Given the description of an element on the screen output the (x, y) to click on. 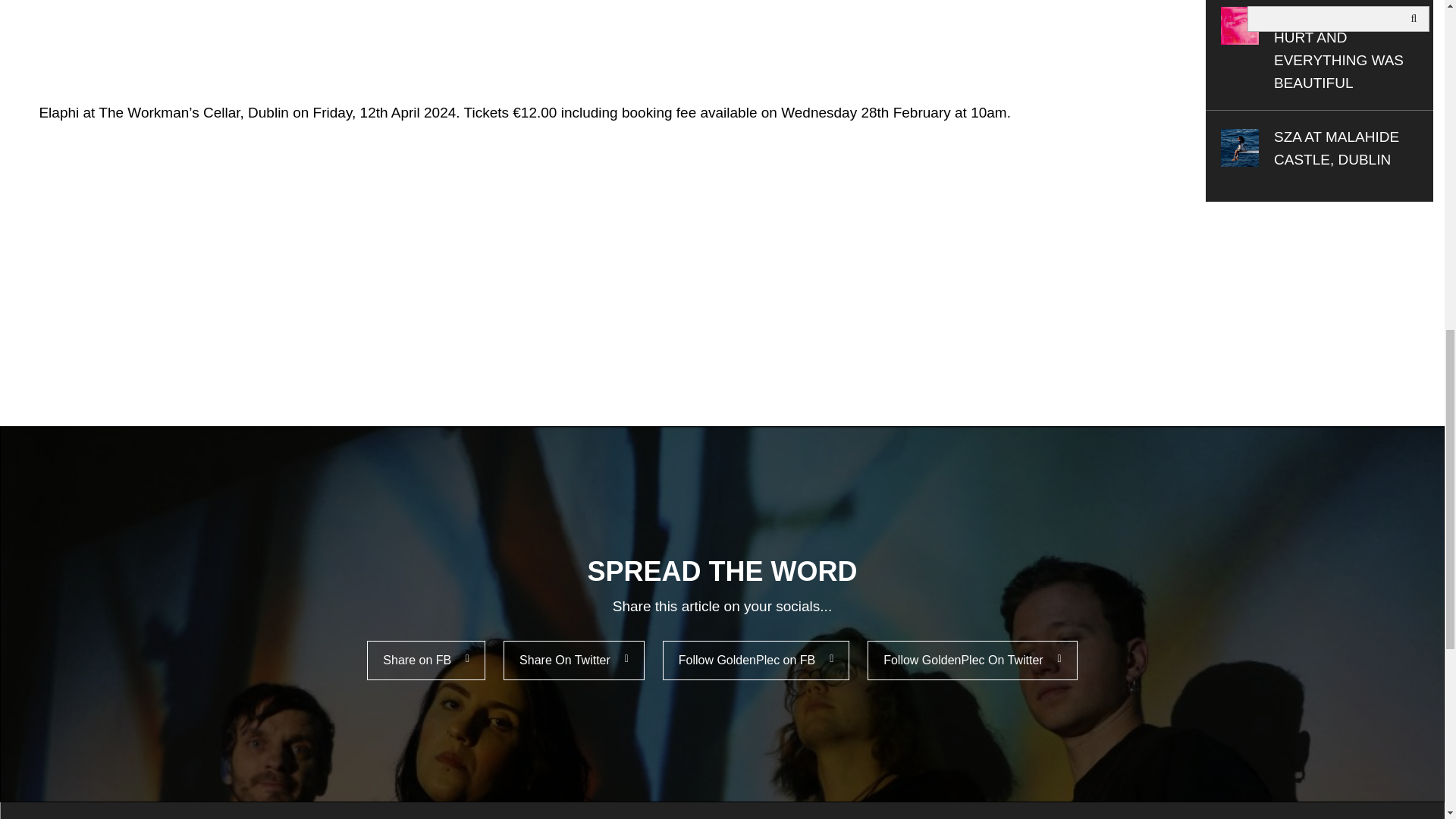
Diamond Walls (228, 36)
